Given the description of an element on the screen output the (x, y) to click on. 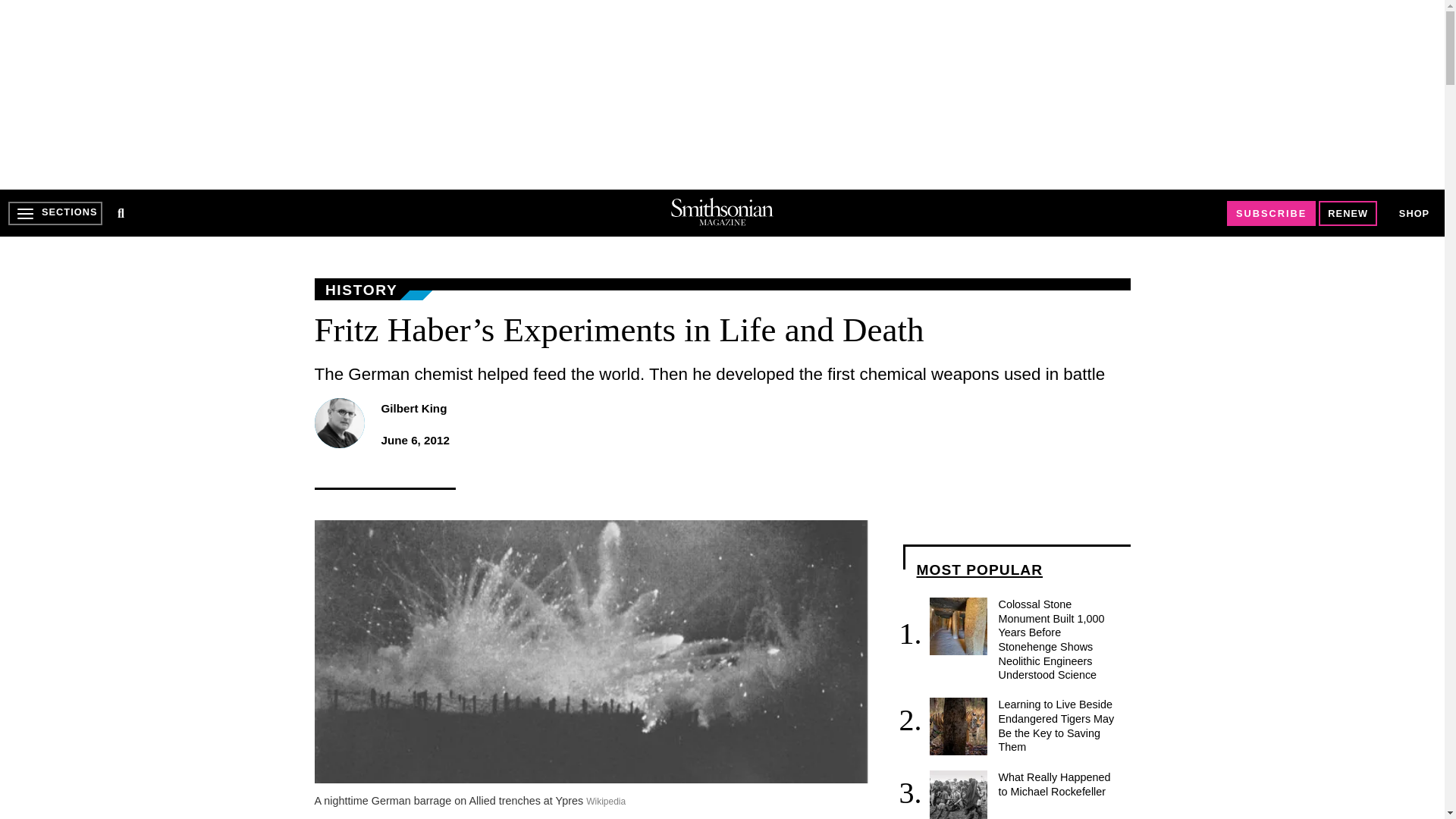
SUBSCRIBE (1271, 212)
SECTIONS (55, 213)
RENEW (1347, 212)
SHOP (1414, 213)
SUBSCRIBE (1271, 213)
SHOP (1413, 212)
RENEW (1348, 213)
